Given the description of an element on the screen output the (x, y) to click on. 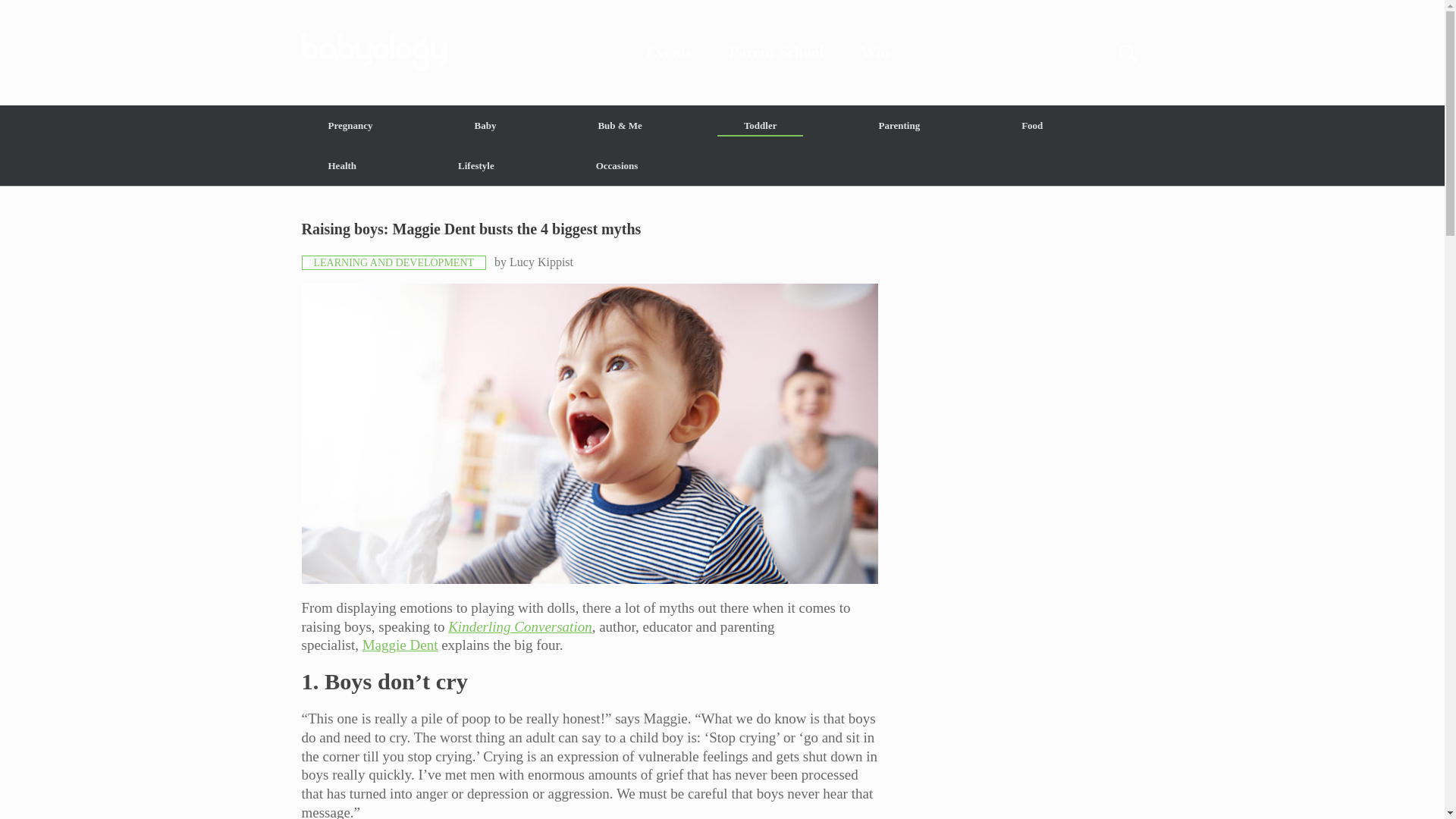
Health (342, 165)
Parent School (776, 52)
Food (1031, 125)
Babyology (721, 52)
Pregnancy (349, 125)
Win (874, 52)
Parenting (898, 125)
Baby (484, 125)
Lifestyle (475, 165)
Events (669, 52)
Kinderling Conversation (519, 626)
Toddler (760, 125)
Maggie Dent (400, 644)
View all posts by Lucy Kippist (541, 261)
Occasions (617, 165)
